Given the description of an element on the screen output the (x, y) to click on. 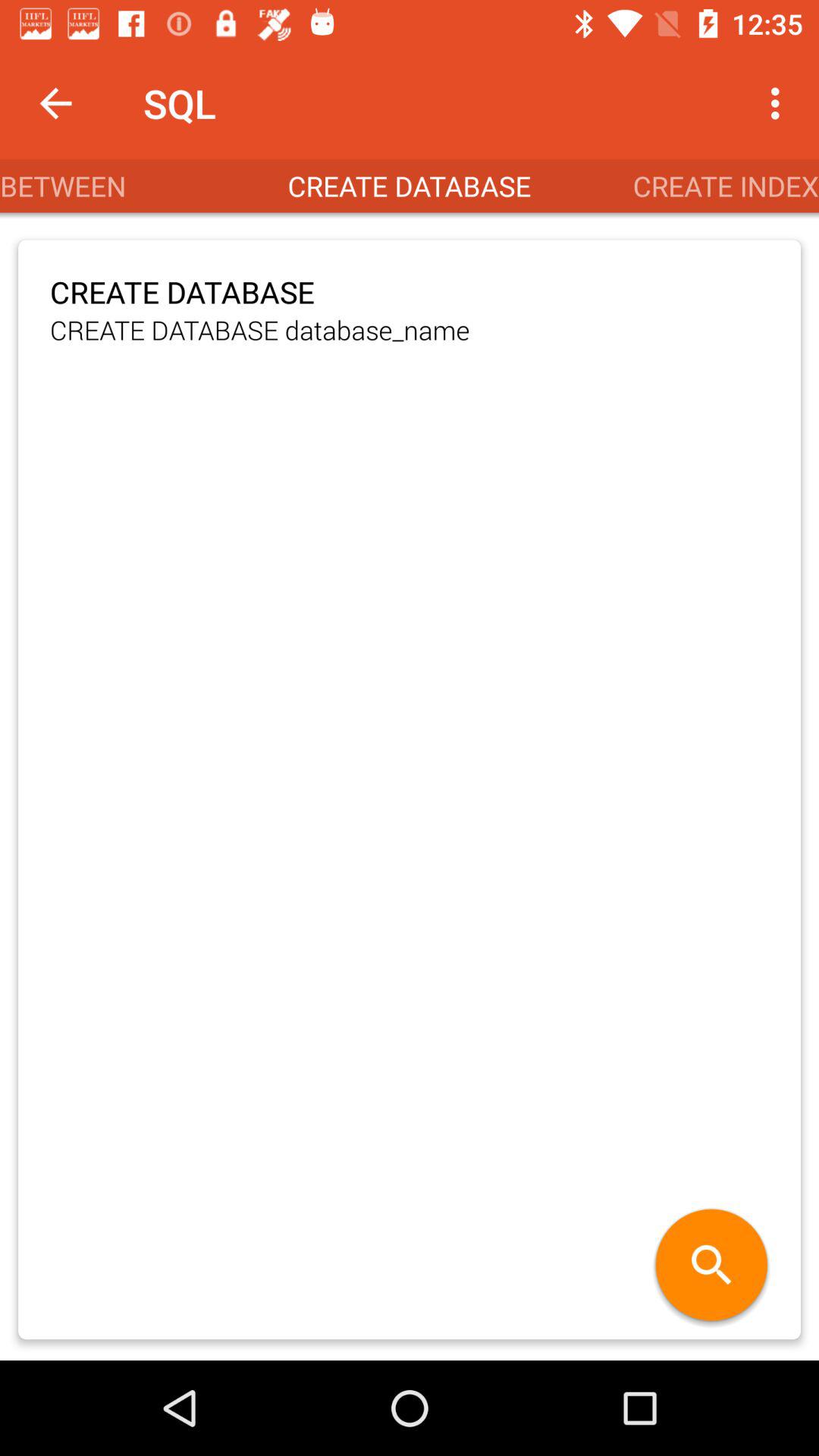
select the item above the create index icon (779, 103)
